Given the description of an element on the screen output the (x, y) to click on. 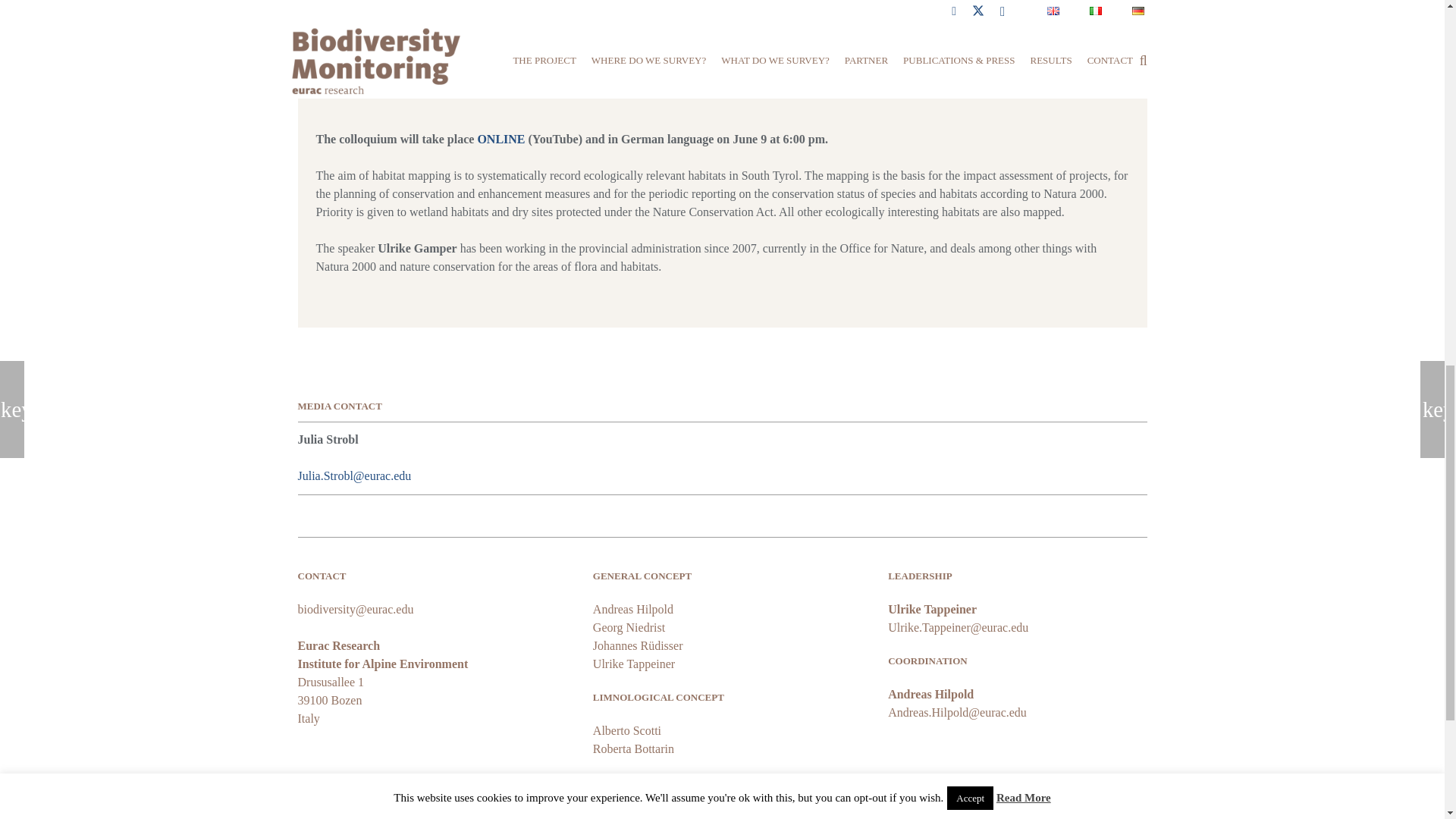
ONLINE  (502, 138)
Back to top (1413, 26)
